Given the description of an element on the screen output the (x, y) to click on. 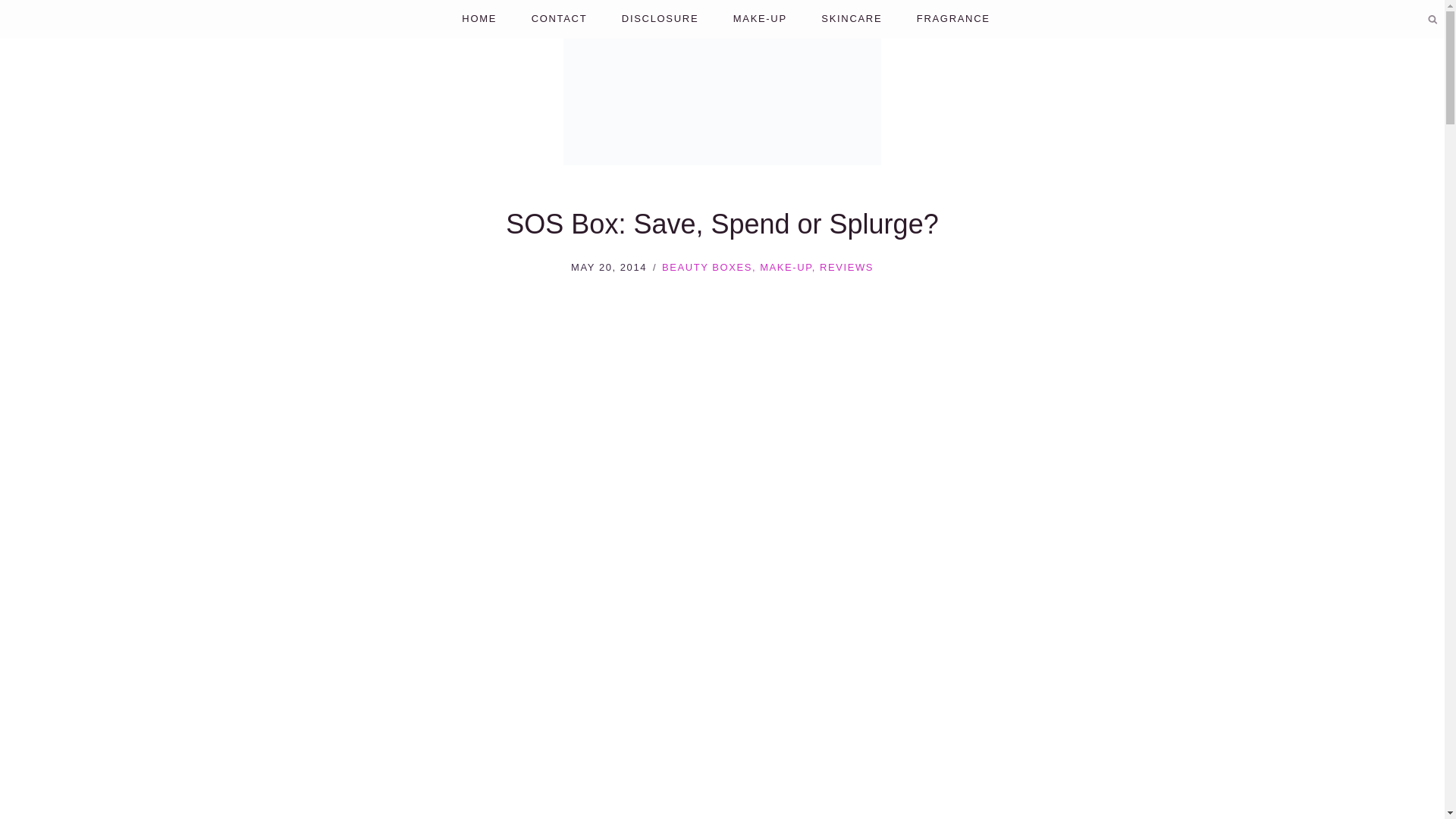
DISCLOSURE (660, 19)
REVIEWS (846, 266)
MAKE-UP (760, 19)
MAKE-UP (785, 266)
SKINCARE (852, 19)
CONTACT (558, 19)
FRAGRANCE (953, 19)
BEAUTY BOXES (707, 266)
HOME (479, 19)
